Given the description of an element on the screen output the (x, y) to click on. 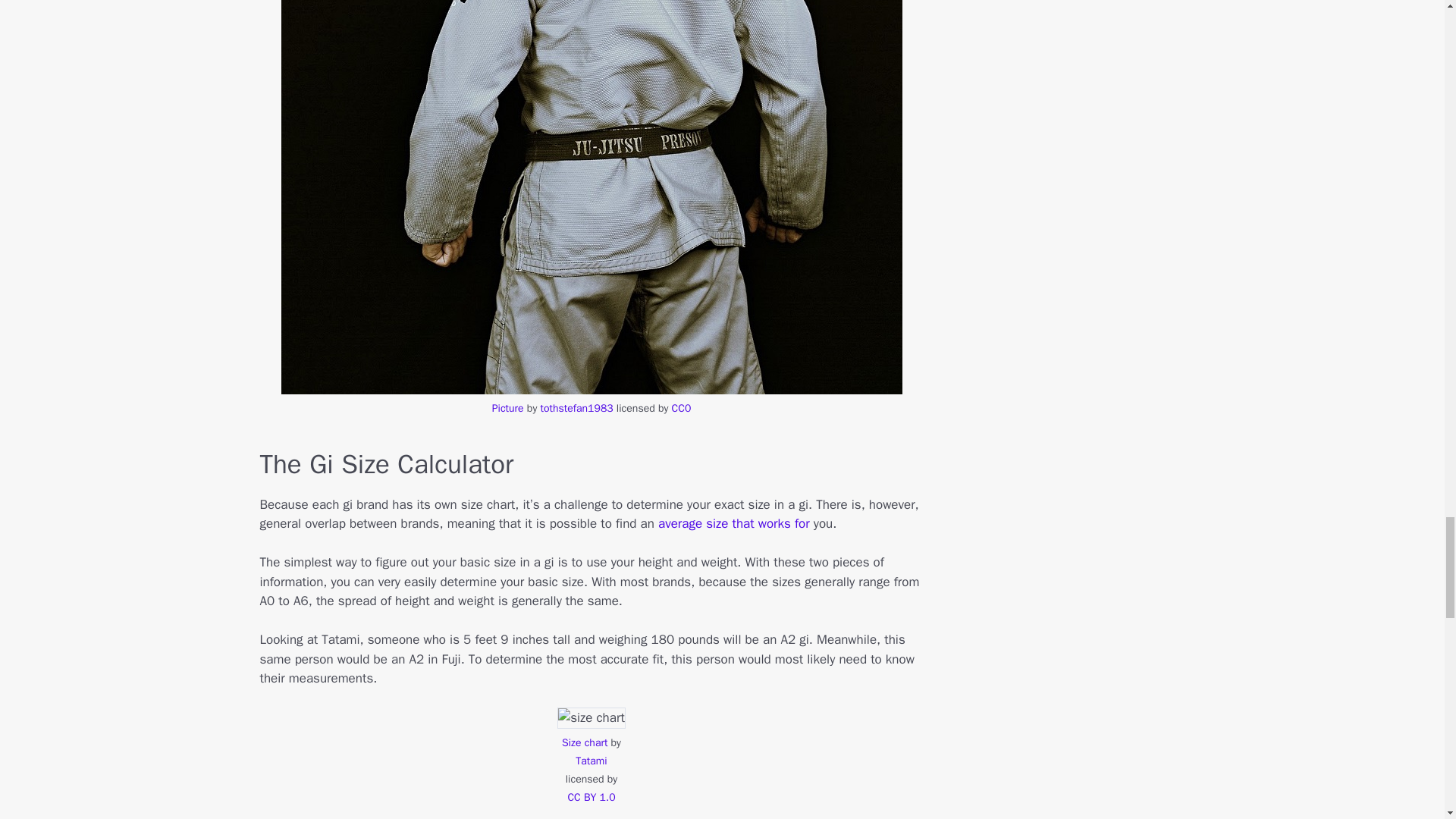
Size chart (584, 742)
Picture (508, 408)
CC BY 1.0 (590, 797)
Tatami (591, 760)
average size that works for (733, 523)
CC0 (681, 408)
tothstefan1983 (576, 408)
